Given the description of an element on the screen output the (x, y) to click on. 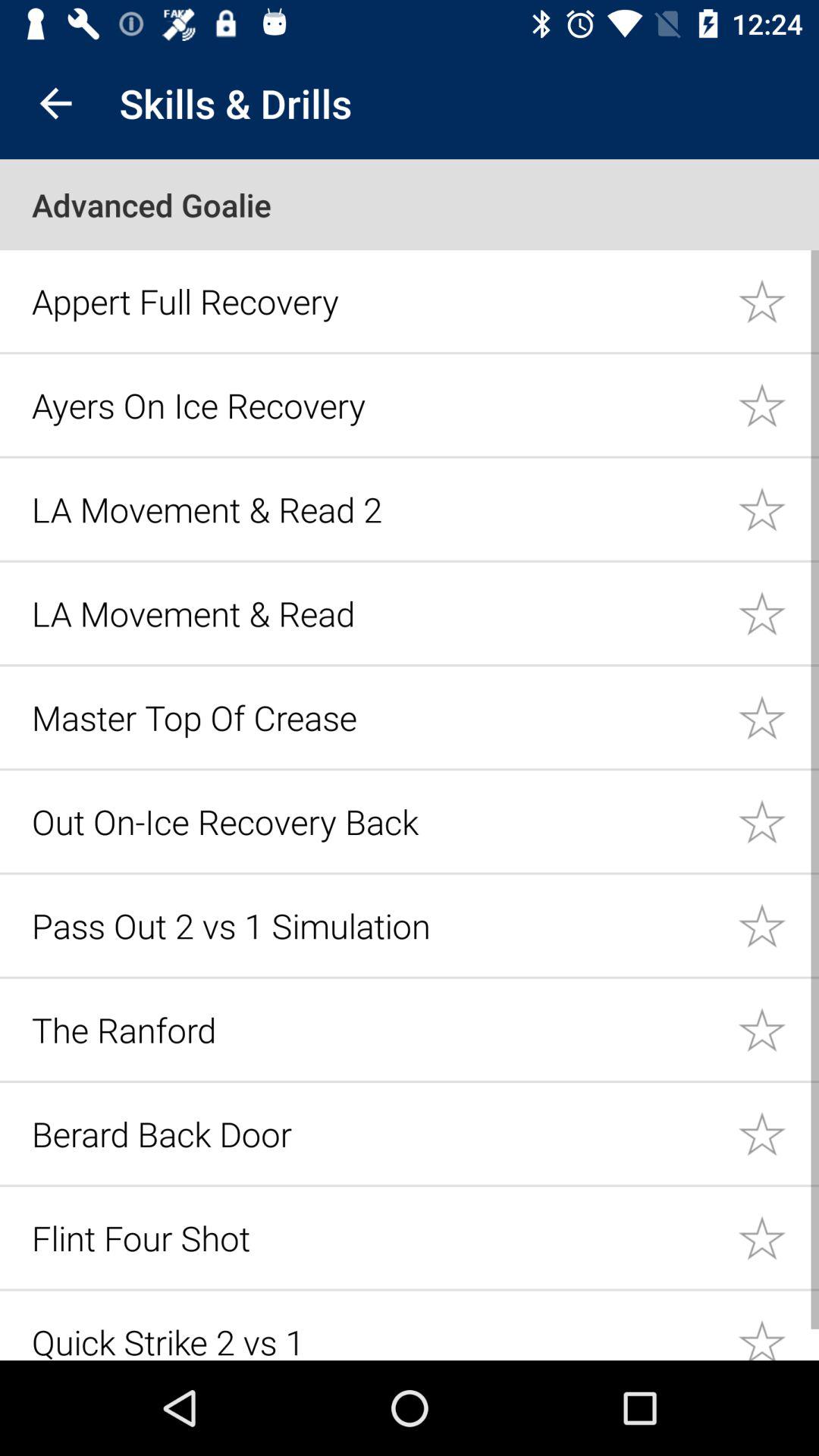
turn off the flint four shot (376, 1237)
